Given the description of an element on the screen output the (x, y) to click on. 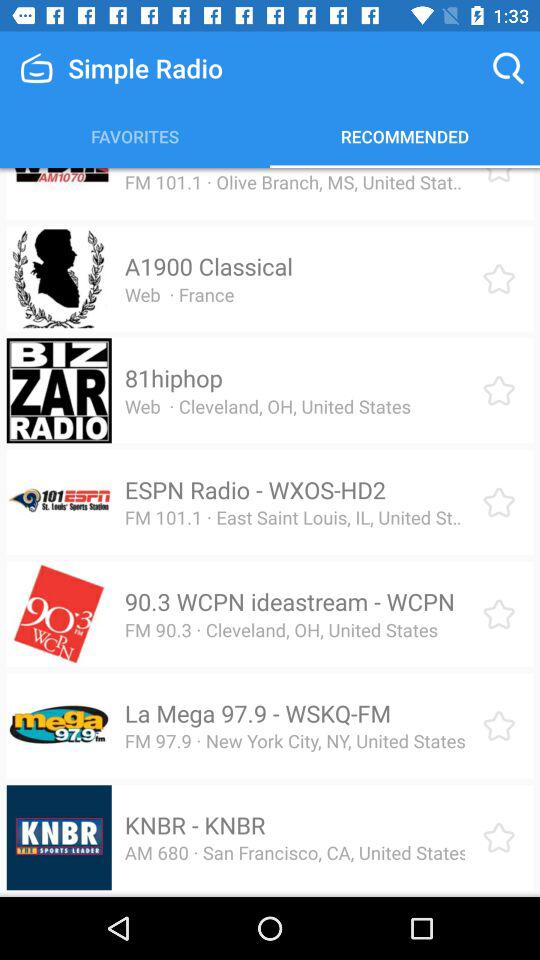
scroll until a1900 classical (208, 266)
